Given the description of an element on the screen output the (x, y) to click on. 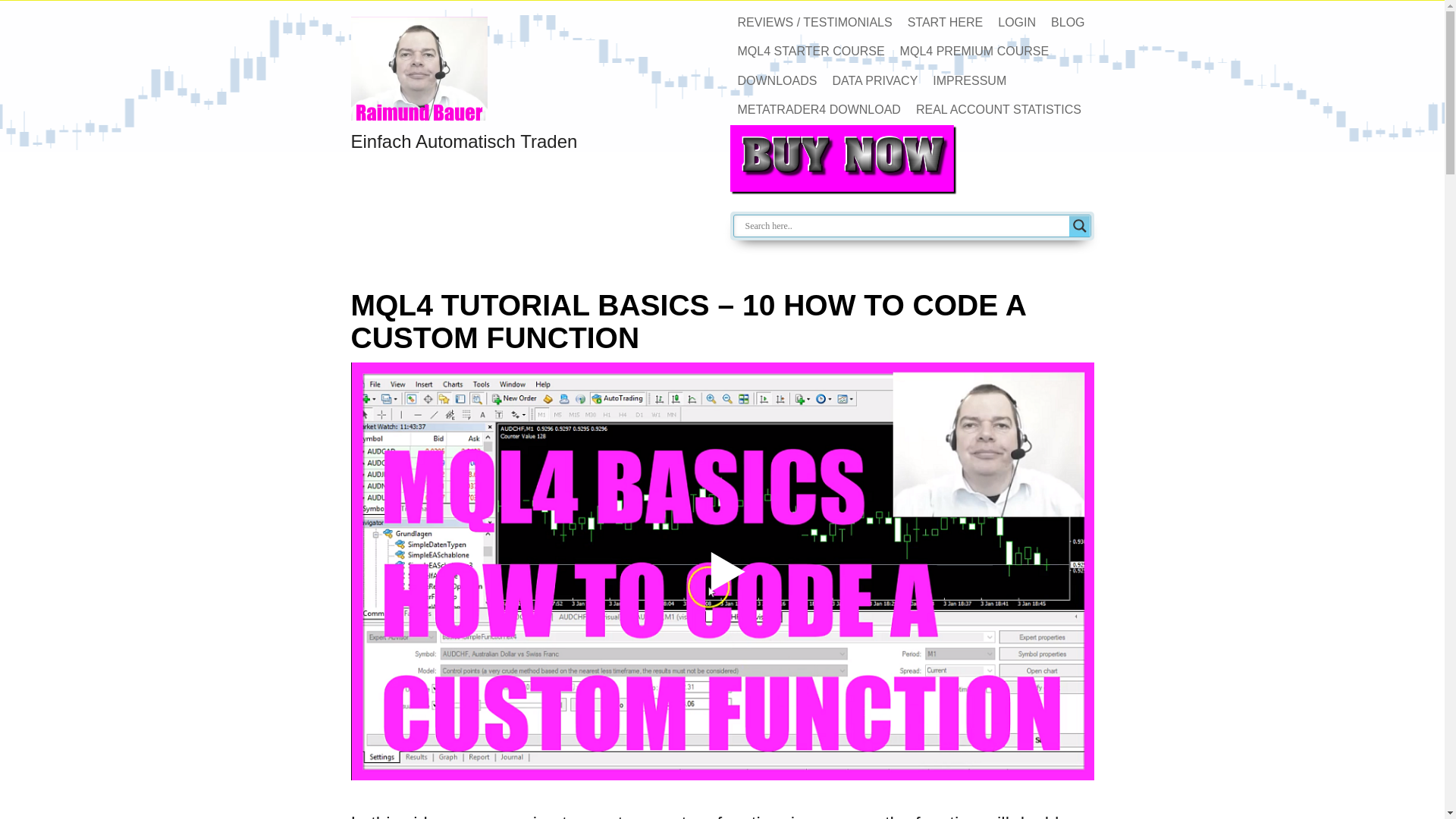
START HERE (945, 22)
IMPRESSUM (968, 80)
MQL4 STARTER COURSE (810, 51)
DATA PRIVACY (874, 80)
LOGIN (1016, 22)
BLOG (1067, 22)
DOWNLOADS (776, 80)
MQL4 PREMIUM COURSE (974, 51)
METATRADER4 DOWNLOAD (818, 109)
REAL ACCOUNT STATISTICS (998, 109)
